Given the description of an element on the screen output the (x, y) to click on. 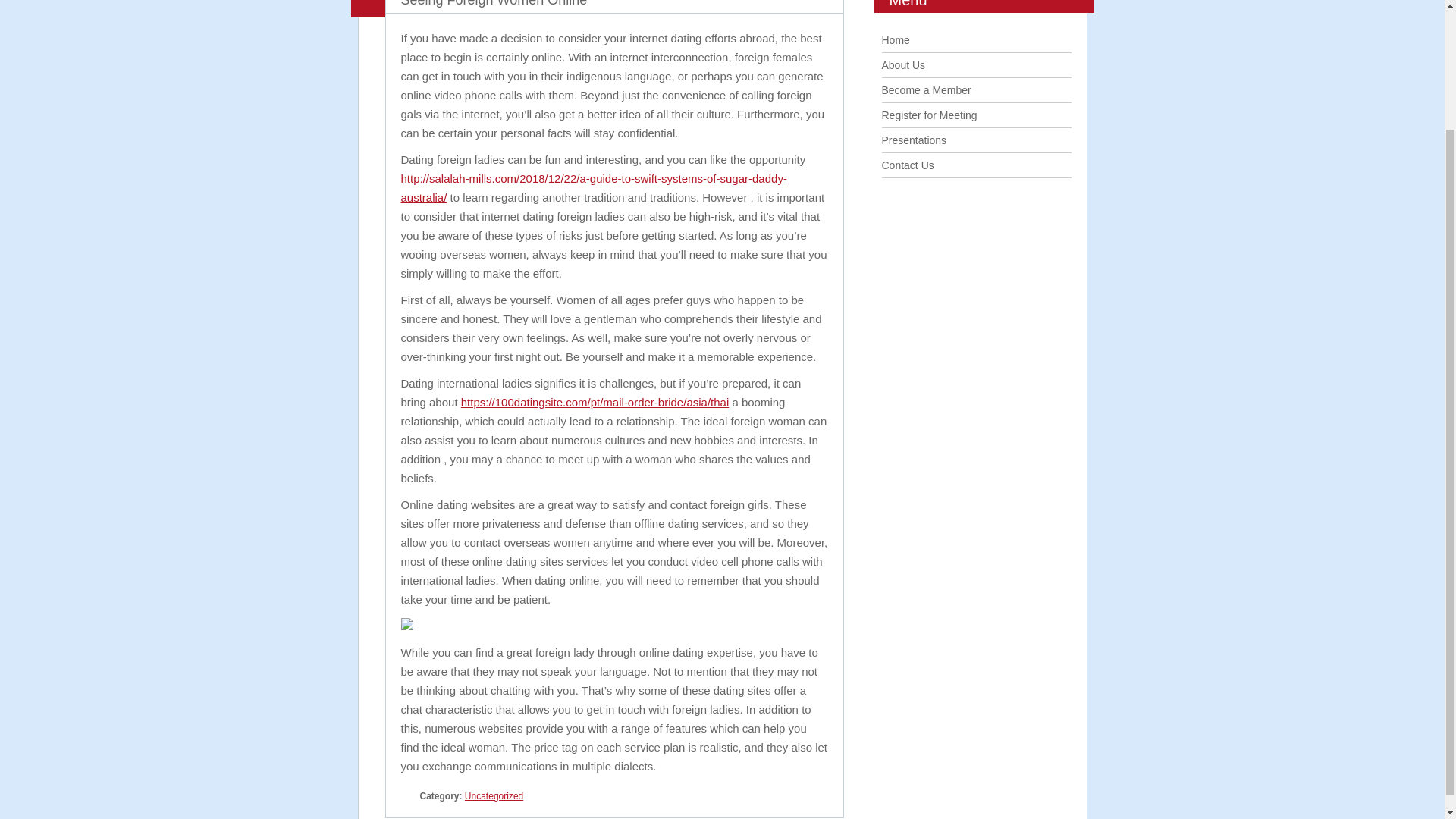
Presentations (913, 140)
Seeing Foreign Women Online (493, 3)
Contact Us (906, 164)
Home (894, 39)
Uncategorized (493, 796)
About Us (902, 64)
Register for Meeting (928, 114)
Permalink to Seeing Foreign Women Online (493, 3)
Become a Member (925, 90)
